Given the description of an element on the screen output the (x, y) to click on. 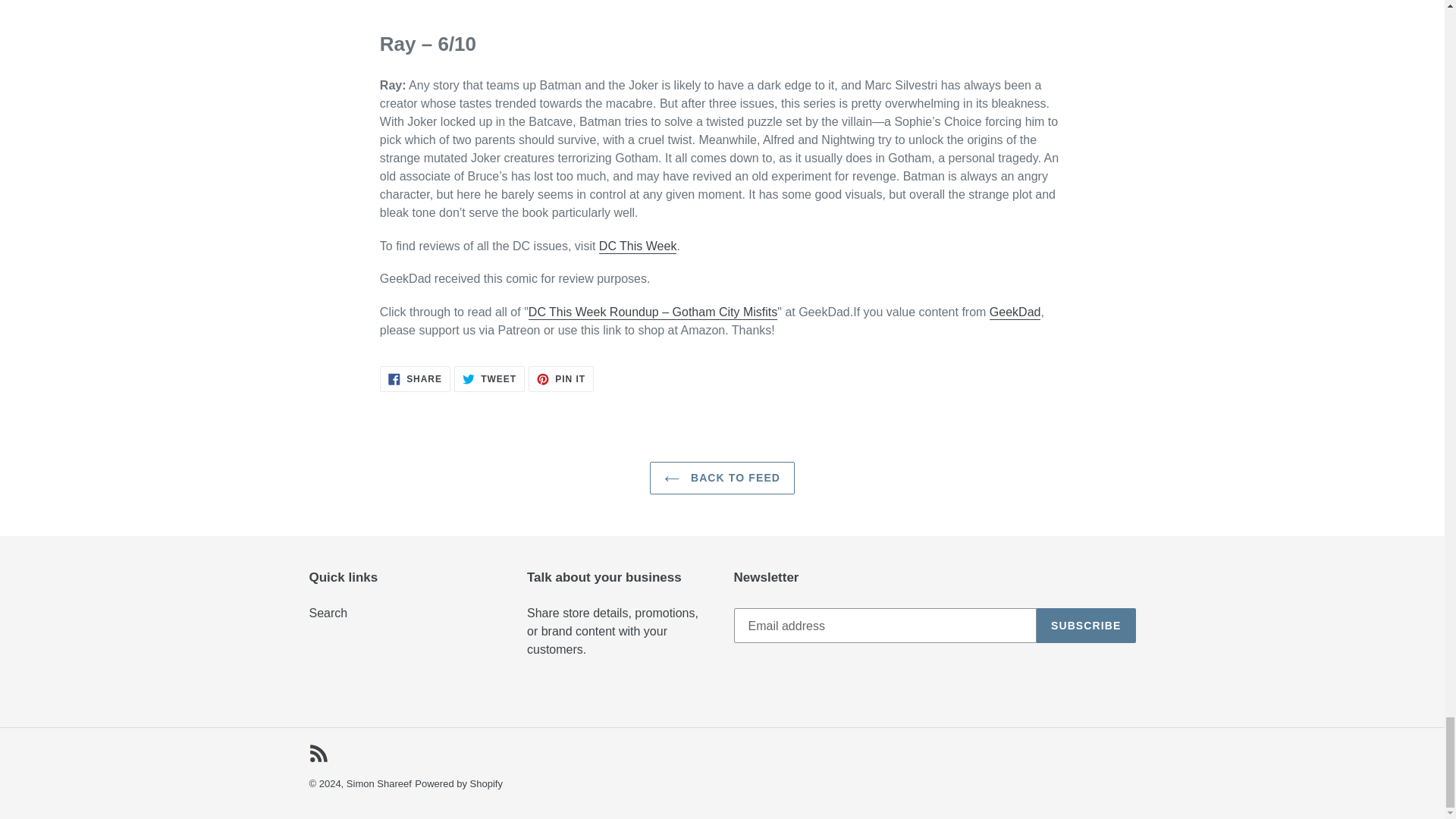
GeekDad (1015, 311)
BACK TO FEED (414, 378)
Simon Shareef (721, 477)
Search (379, 783)
Powered by Shopify (327, 612)
SUBSCRIBE (561, 378)
DC This Week (458, 783)
RSS (1085, 625)
